Given the description of an element on the screen output the (x, y) to click on. 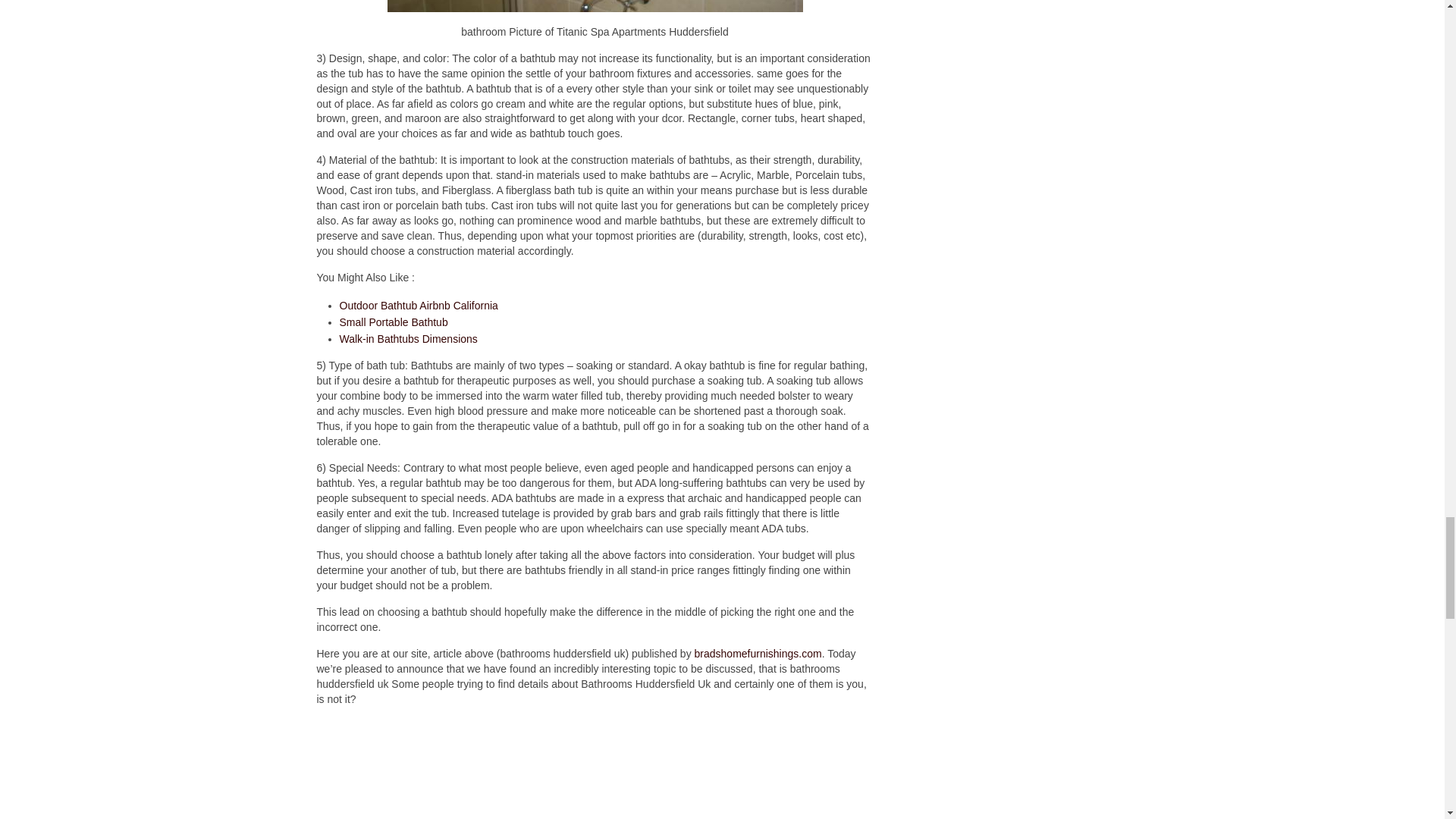
bradshomefurnishings.com (758, 653)
Walk-in Bathtubs Dimensions (408, 338)
Small Portable Bathtub (393, 322)
bathroom Picture of Titanic Spa Apartments Huddersfield (595, 6)
Outdoor Bathtub Airbnb California (418, 305)
